Given the description of an element on the screen output the (x, y) to click on. 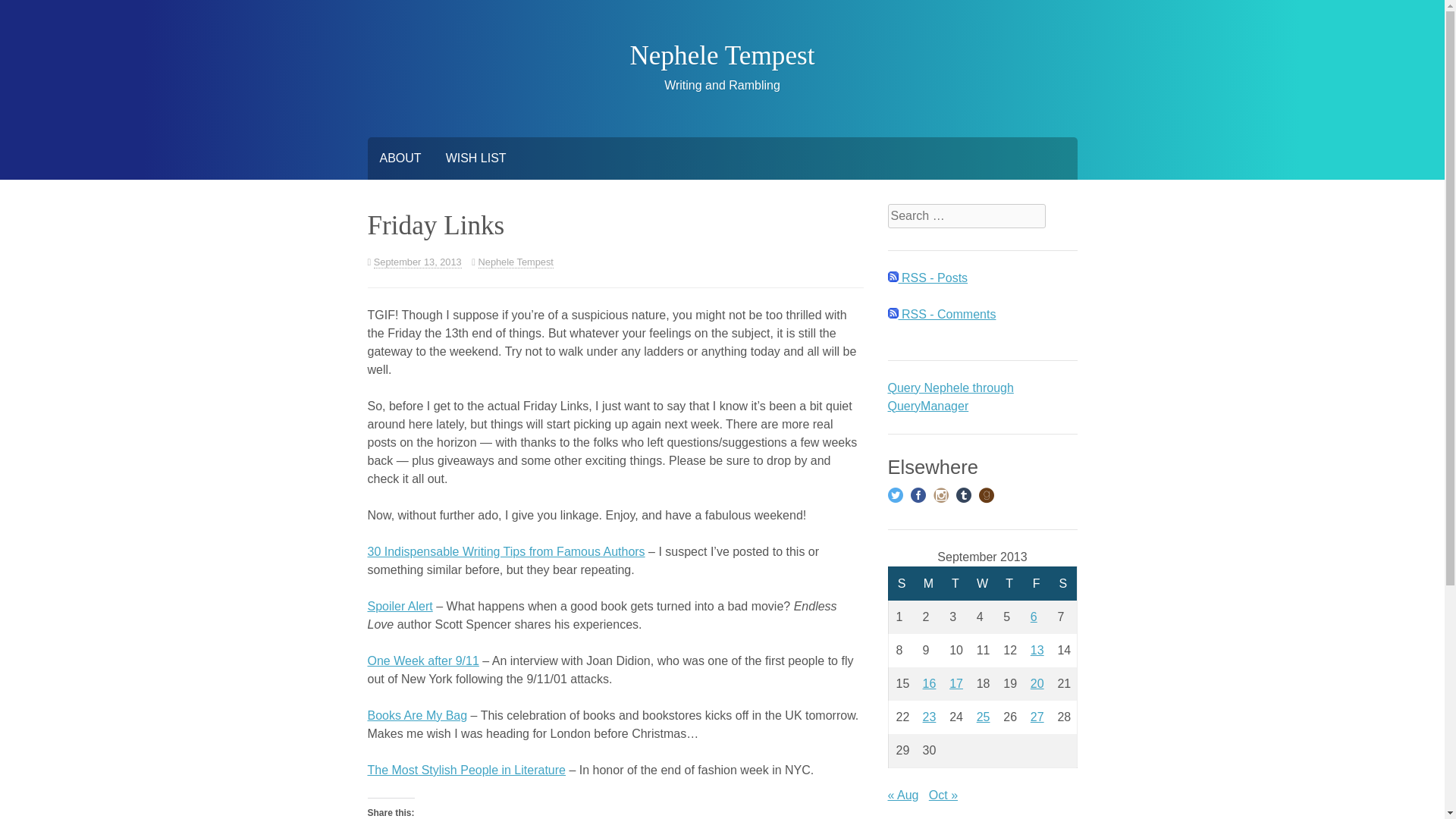
Spoiler Alert (399, 605)
Nephele Tempest (516, 262)
 RSS - Comments (940, 314)
Monday (928, 583)
30 Indispensable Writing Tips from Famous Authors (505, 551)
Subscribe to comments (940, 314)
13 (1036, 649)
ABOUT (399, 158)
Thursday (1009, 583)
Books Are My Bag (416, 715)
Subscribe to posts (927, 277)
September 13, 2013 (417, 262)
 RSS - Posts (927, 277)
Tuesday (955, 583)
WISH LIST (475, 158)
